Given the description of an element on the screen output the (x, y) to click on. 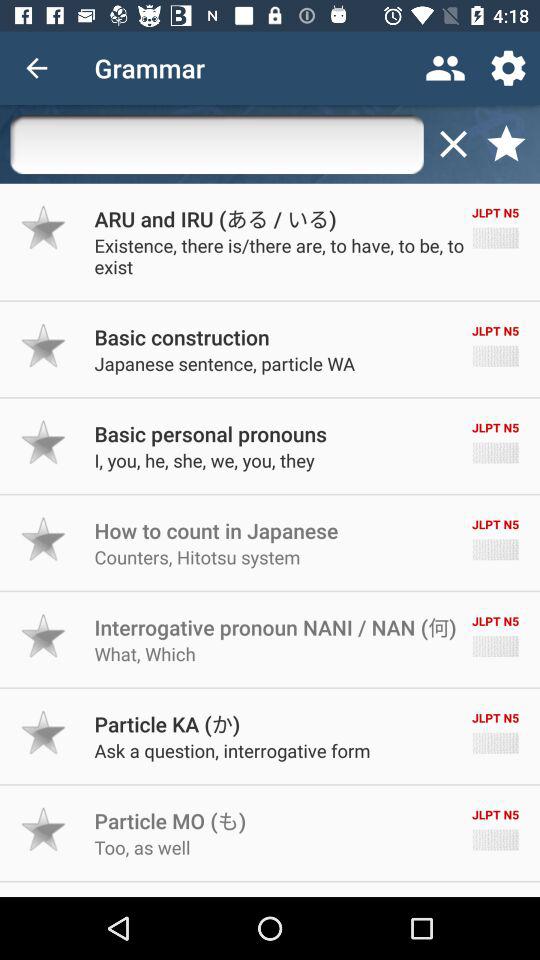
rate option (44, 539)
